Given the description of an element on the screen output the (x, y) to click on. 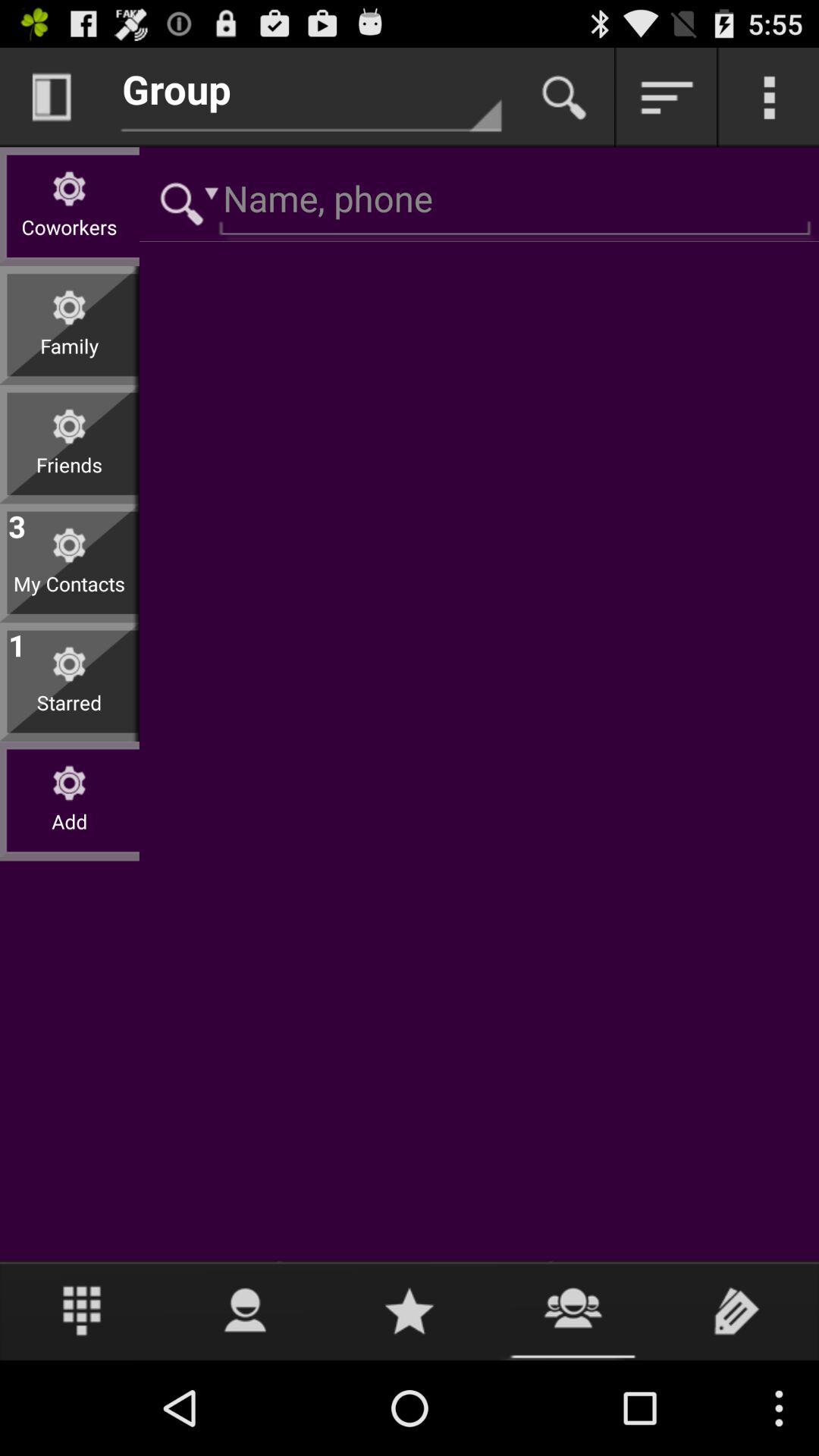
go to number pad (81, 1310)
